Given the description of an element on the screen output the (x, y) to click on. 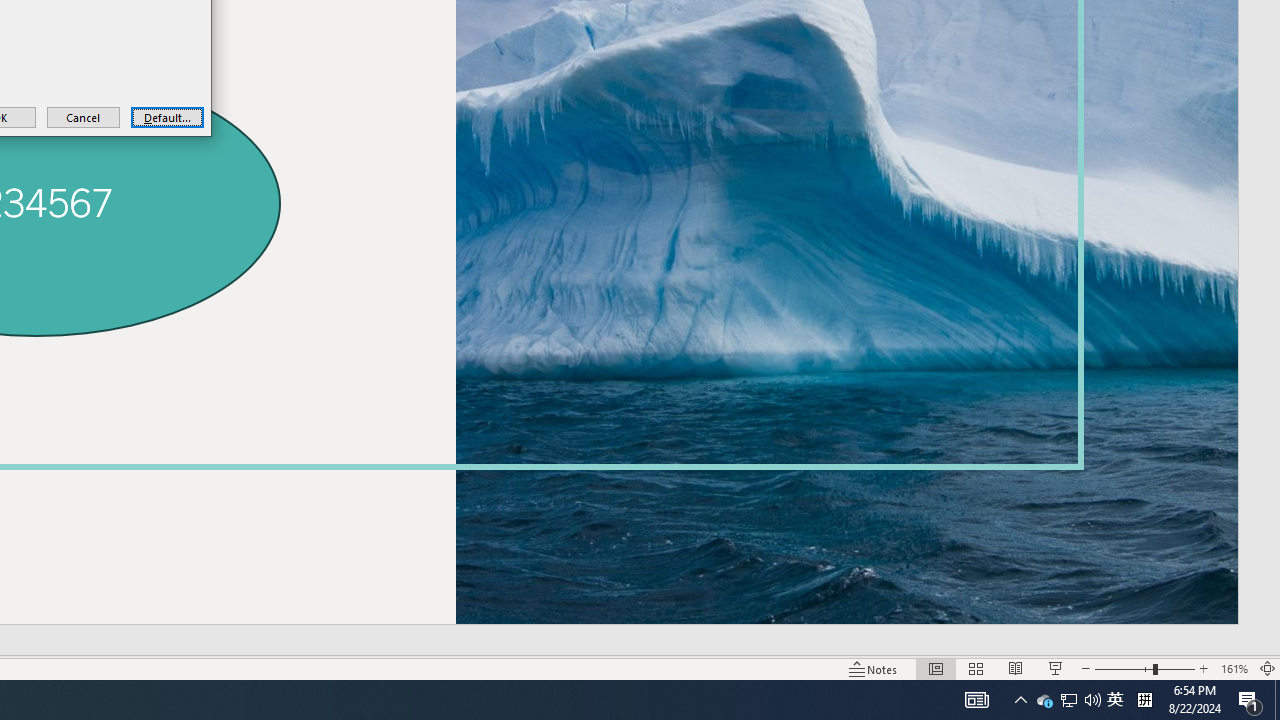
Default... (167, 116)
Q2790: 100% (1092, 699)
Cancel (83, 116)
Zoom 161% (1234, 668)
Tray Input Indicator - Chinese (Simplified, China) (1044, 699)
AutomationID: 4105 (1144, 699)
Show desktop (976, 699)
